Given the description of an element on the screen output the (x, y) to click on. 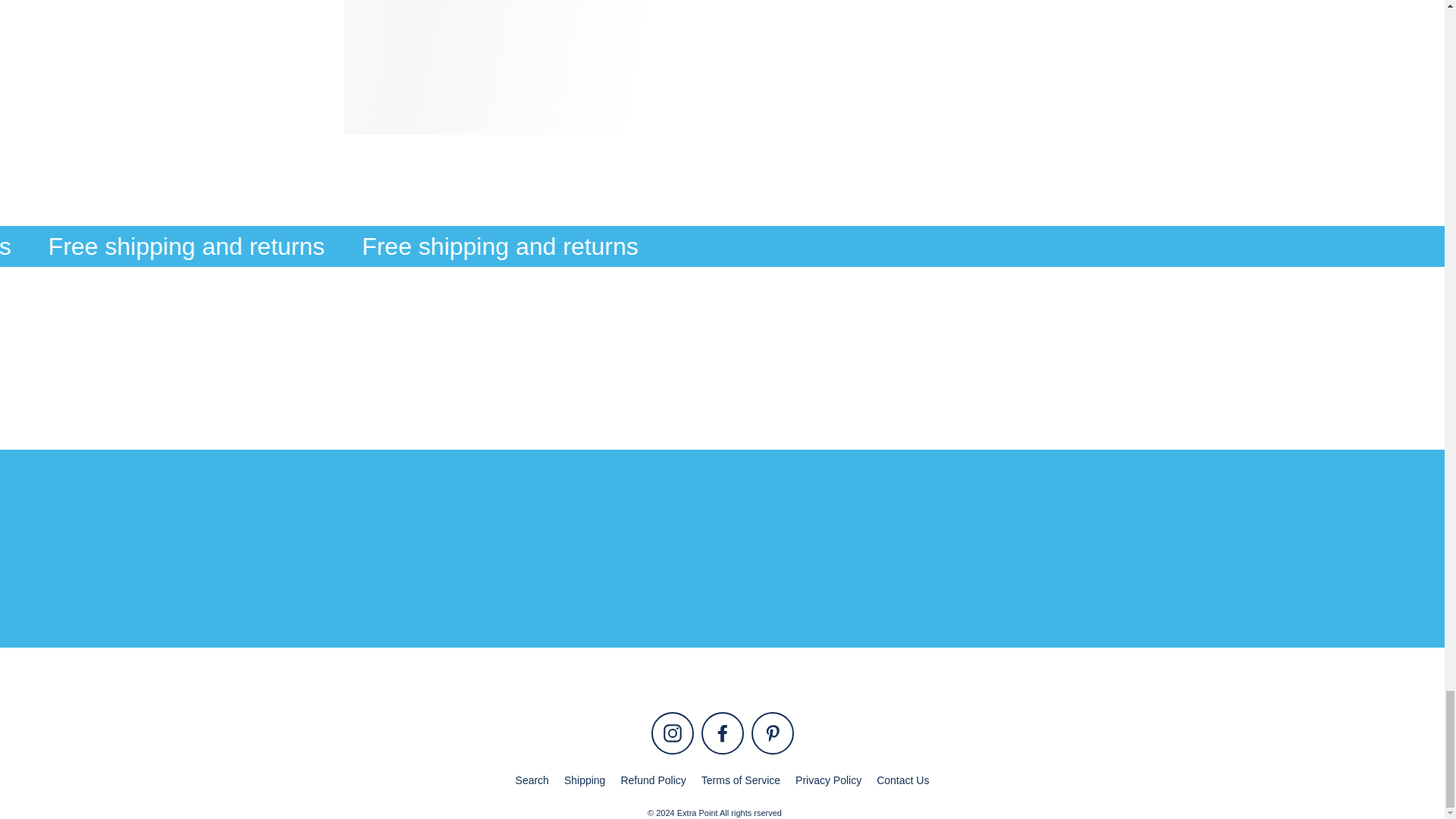
Extra Point on Instagram (671, 732)
Extra Point on Pinterest (772, 732)
Extra Point on Facebook (721, 732)
